Given the description of an element on the screen output the (x, y) to click on. 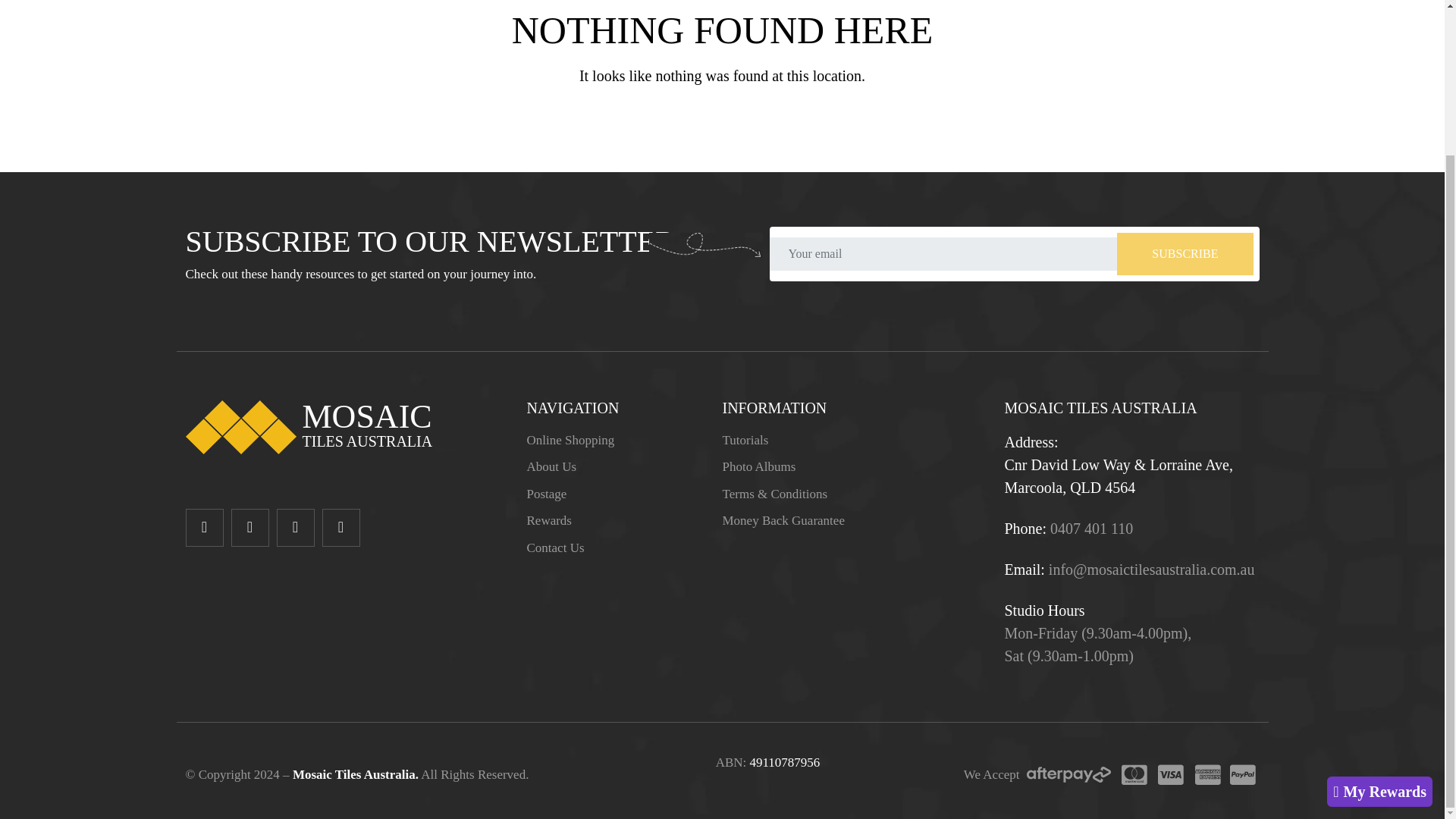
Photo Albums (758, 466)
0407 401 110 (1090, 528)
Postage (545, 493)
About Us (550, 466)
0407 401 110 (1090, 528)
49110787956 (784, 762)
About Us (550, 466)
Photo Albums (758, 466)
Online Shopping (569, 439)
SUBSCRIBE (1184, 253)
Postage (545, 493)
Tutorials (745, 439)
Rewards (547, 520)
49110787956 (784, 762)
Rewards (547, 520)
